Given the description of an element on the screen output the (x, y) to click on. 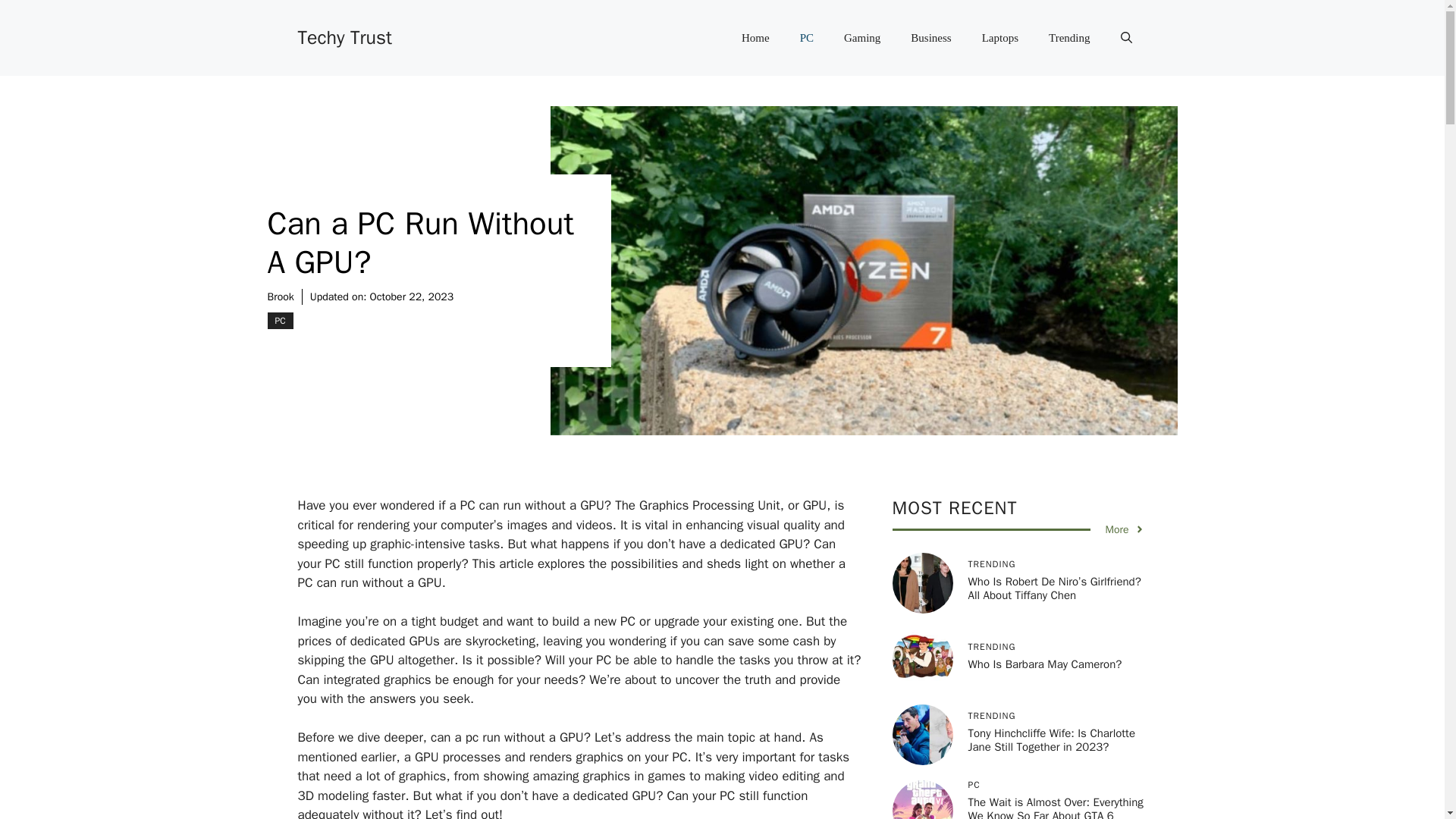
Laptops (999, 37)
Business (930, 37)
Trending (1069, 37)
Home (755, 37)
PC (279, 320)
Gaming (861, 37)
Techy Trust (344, 37)
PC (806, 37)
Brook (280, 296)
